Given the description of an element on the screen output the (x, y) to click on. 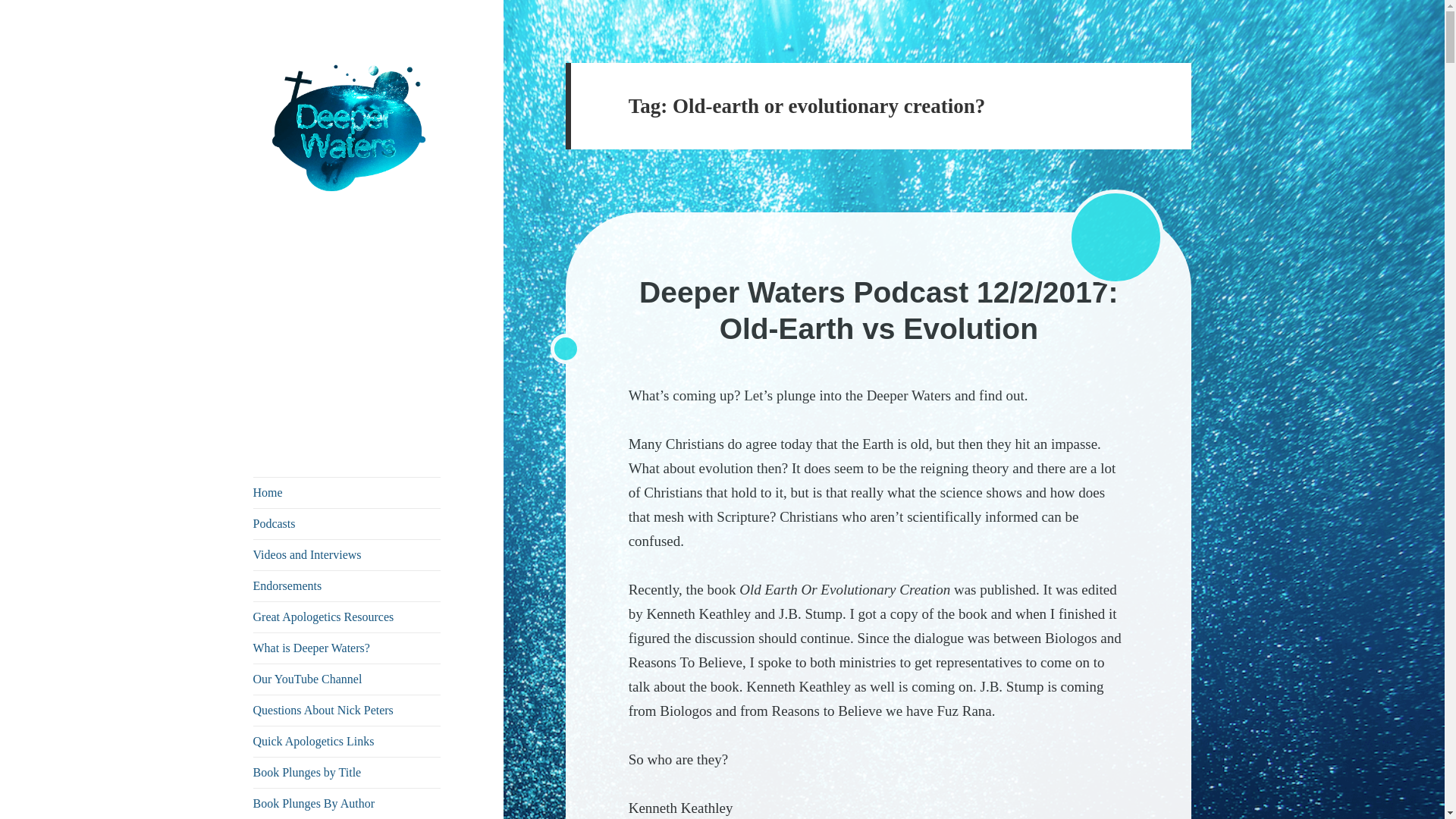
Home (347, 492)
Our YouTube Channel (347, 679)
Book Plunges By Author (347, 803)
Videos and Interviews (347, 554)
Questions About Nick Peters (347, 710)
Endorsements (347, 585)
Book Plunges by Title (347, 772)
Podcasts (347, 523)
Quick Apologetics Links (347, 741)
What is Deeper Waters? (347, 648)
Great Apologetics Resources (347, 616)
